Given the description of an element on the screen output the (x, y) to click on. 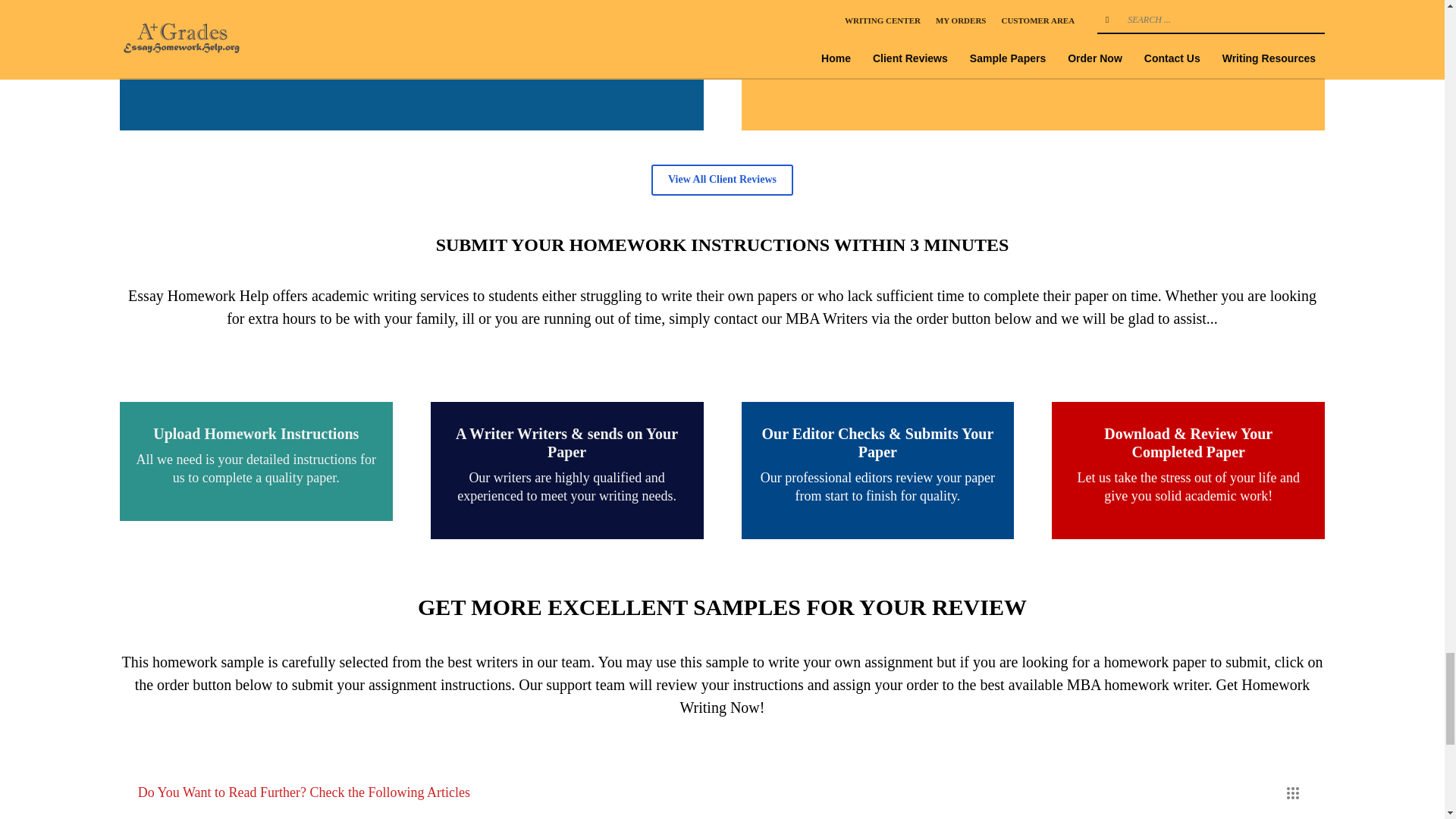
View All Client Reviews (721, 179)
